Given the description of an element on the screen output the (x, y) to click on. 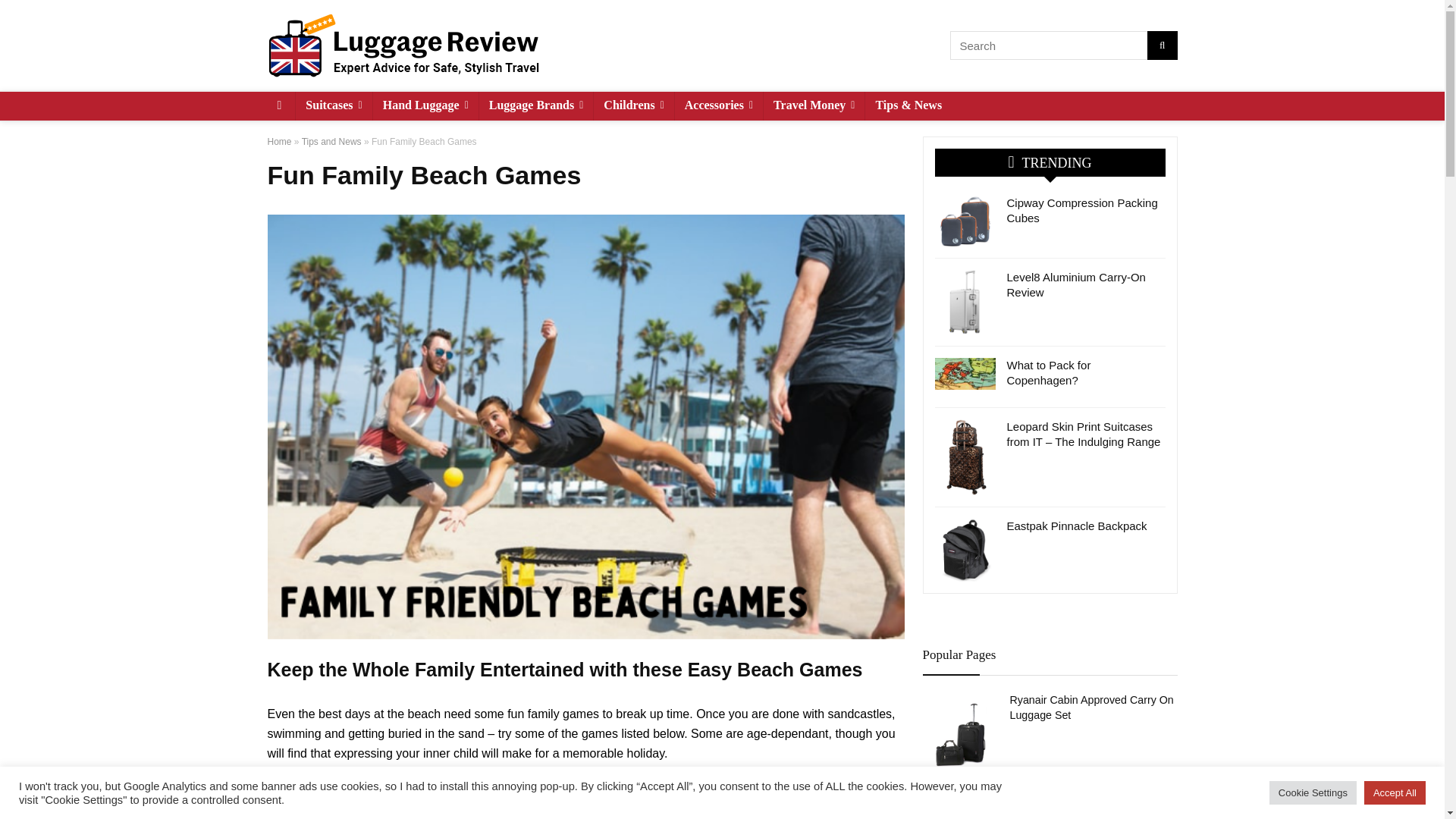
Hand Luggage (425, 105)
Suitcases (333, 105)
Luggage Brands (536, 105)
Travel Money (813, 105)
Childrens (633, 105)
Accessories (718, 105)
